Given the description of an element on the screen output the (x, y) to click on. 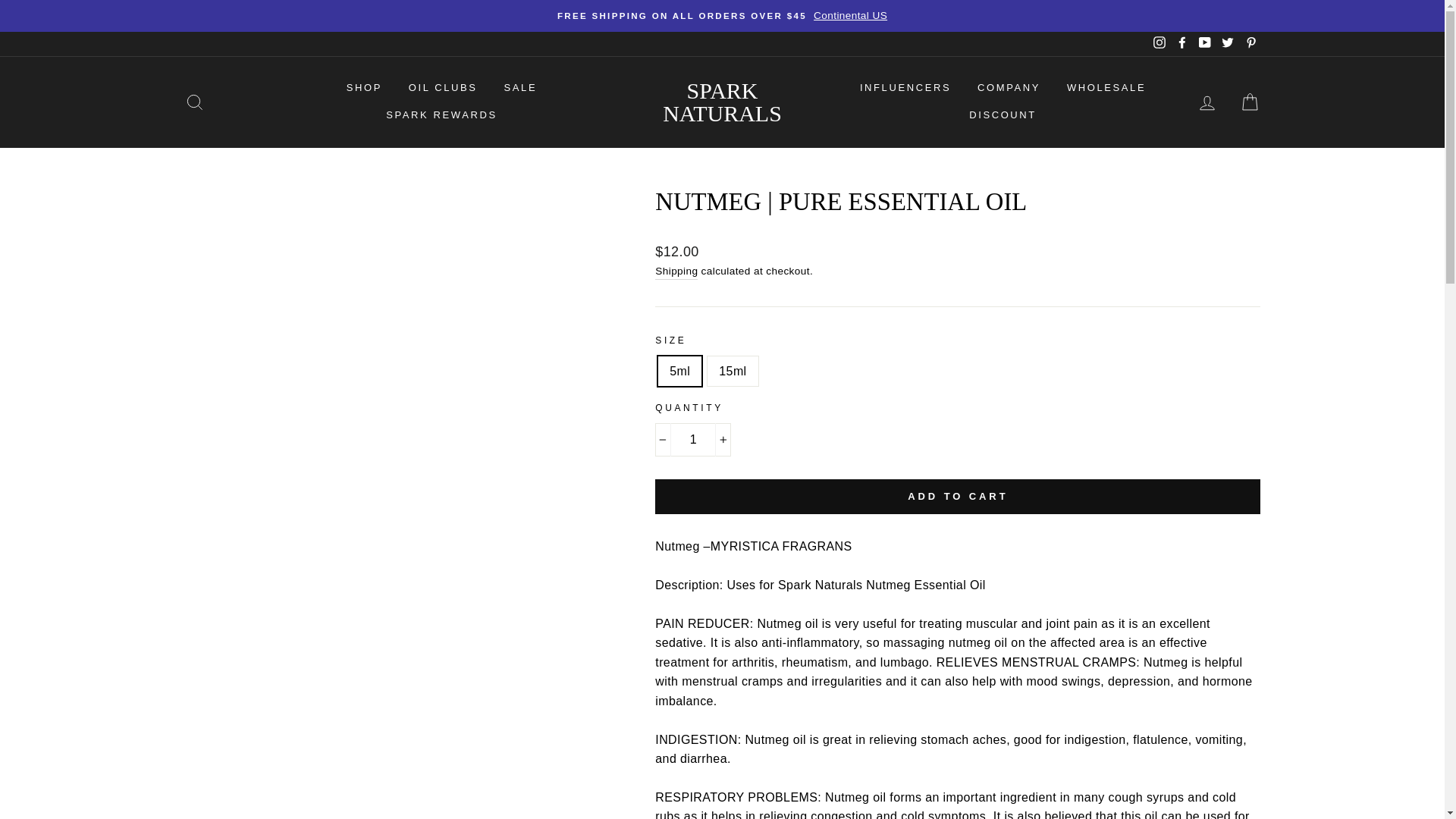
1 (692, 439)
